Given the description of an element on the screen output the (x, y) to click on. 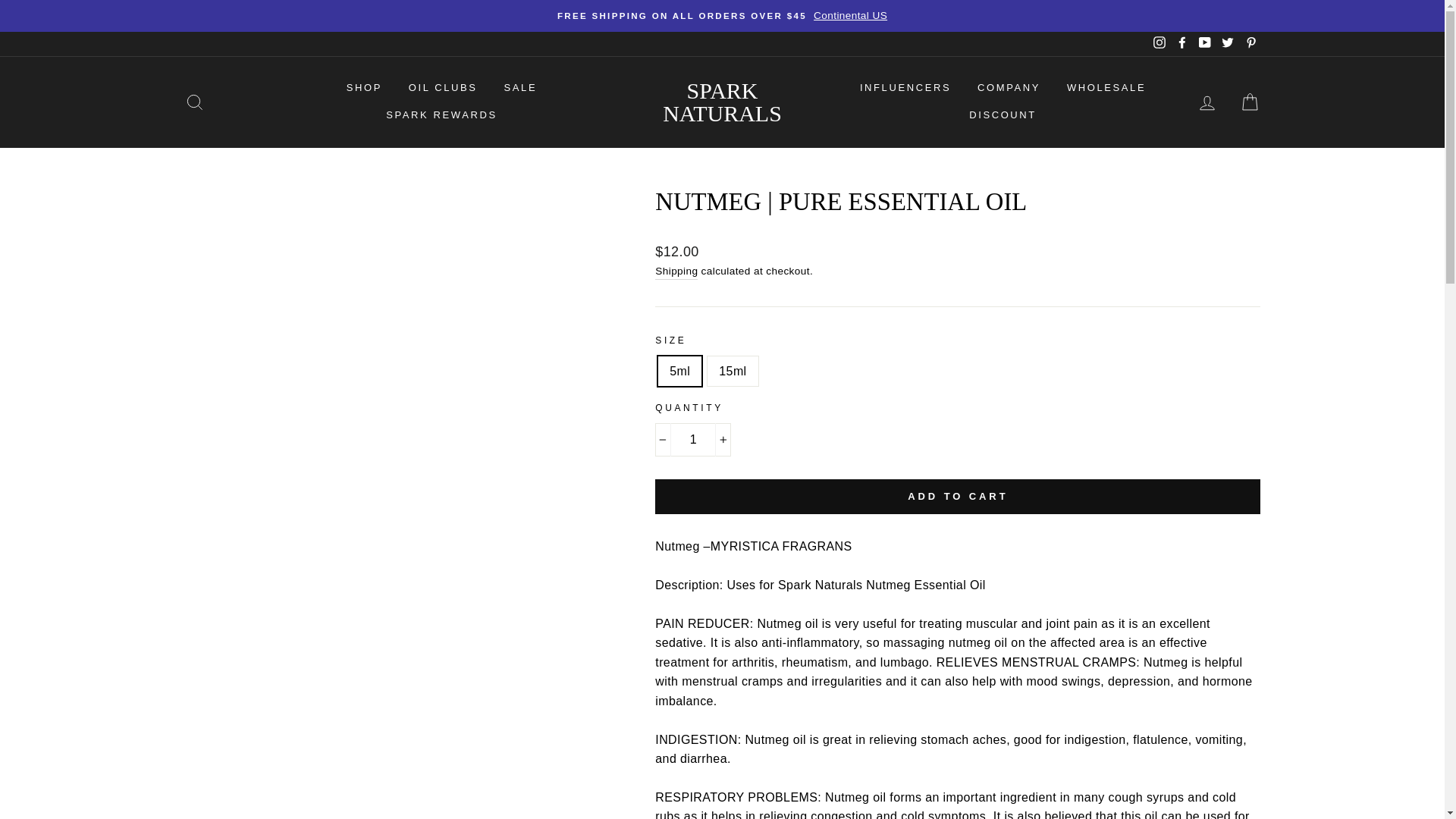
1 (692, 439)
